Given the description of an element on the screen output the (x, y) to click on. 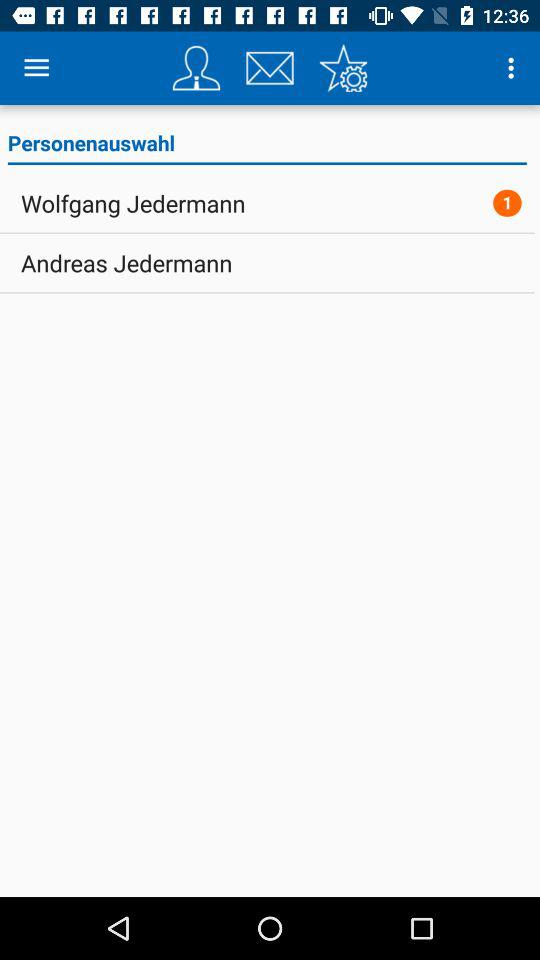
flip to the wolfgang jedermann icon (133, 203)
